Given the description of an element on the screen output the (x, y) to click on. 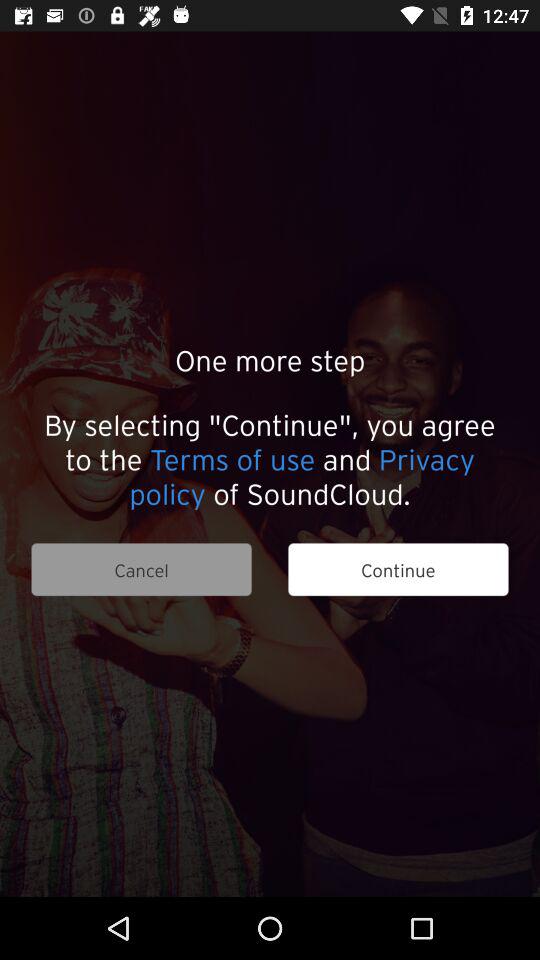
swipe to by selecting continue (269, 457)
